Given the description of an element on the screen output the (x, y) to click on. 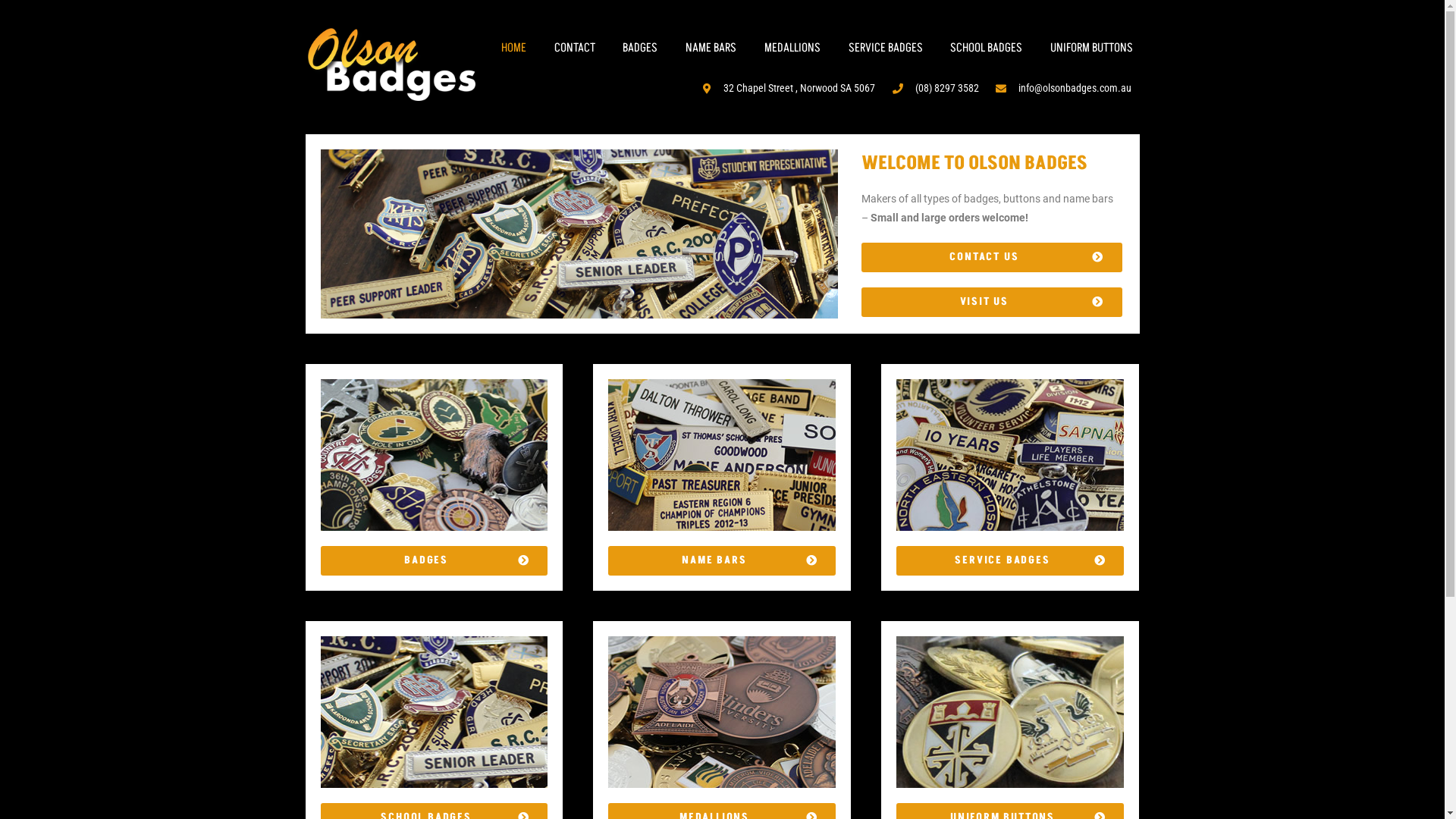
BADGES Element type: text (433, 560)
UNIFORM BUTTONS Element type: text (1091, 47)
SCHOOL BADGES Element type: text (986, 47)
CONTACT Element type: text (574, 47)
HOME Element type: text (513, 47)
NAME BARS Element type: text (721, 560)
BADGES Element type: text (640, 47)
NAME BARS Element type: text (711, 47)
CONTACT US Element type: text (991, 257)
MEDALLIONS Element type: text (791, 47)
VISIT US Element type: text (991, 301)
SERVICE BADGES Element type: text (1009, 560)
SERVICE BADGES Element type: text (885, 47)
